Given the description of an element on the screen output the (x, y) to click on. 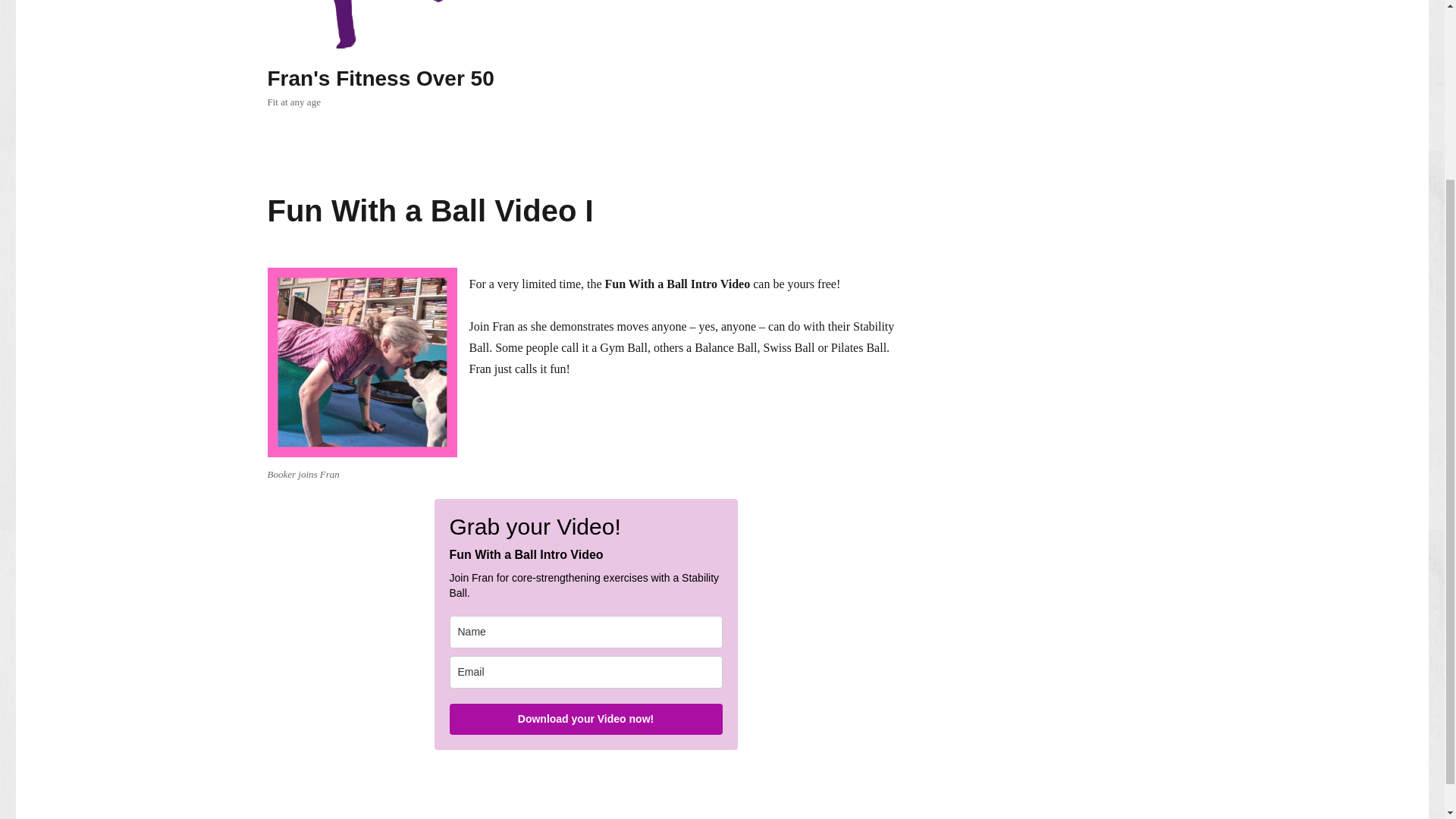
Blog (664, 2)
Download your Video now! (585, 718)
Contact Me (1146, 2)
About Me (992, 2)
Subscribe (1067, 2)
Fran's Fitness Over 50 (379, 78)
